Given the description of an element on the screen output the (x, y) to click on. 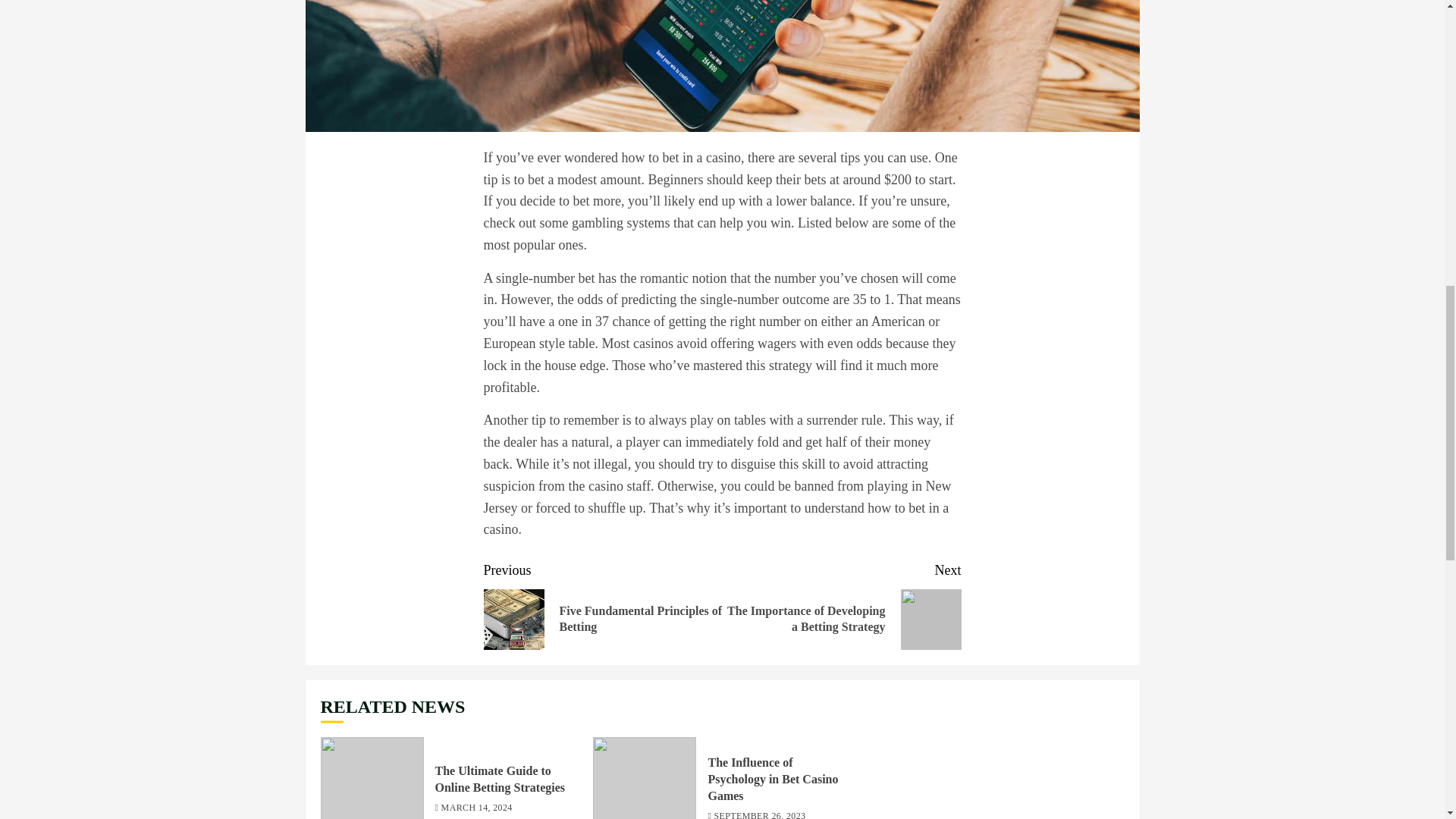
The Ultimate Guide to Online Betting Strategies (371, 778)
The Influence of Psychology in Bet Casino Games (643, 778)
The Influence of Psychology in Bet Casino Games (772, 779)
The Ultimate Guide to Online Betting Strategies (500, 779)
